Given the description of an element on the screen output the (x, y) to click on. 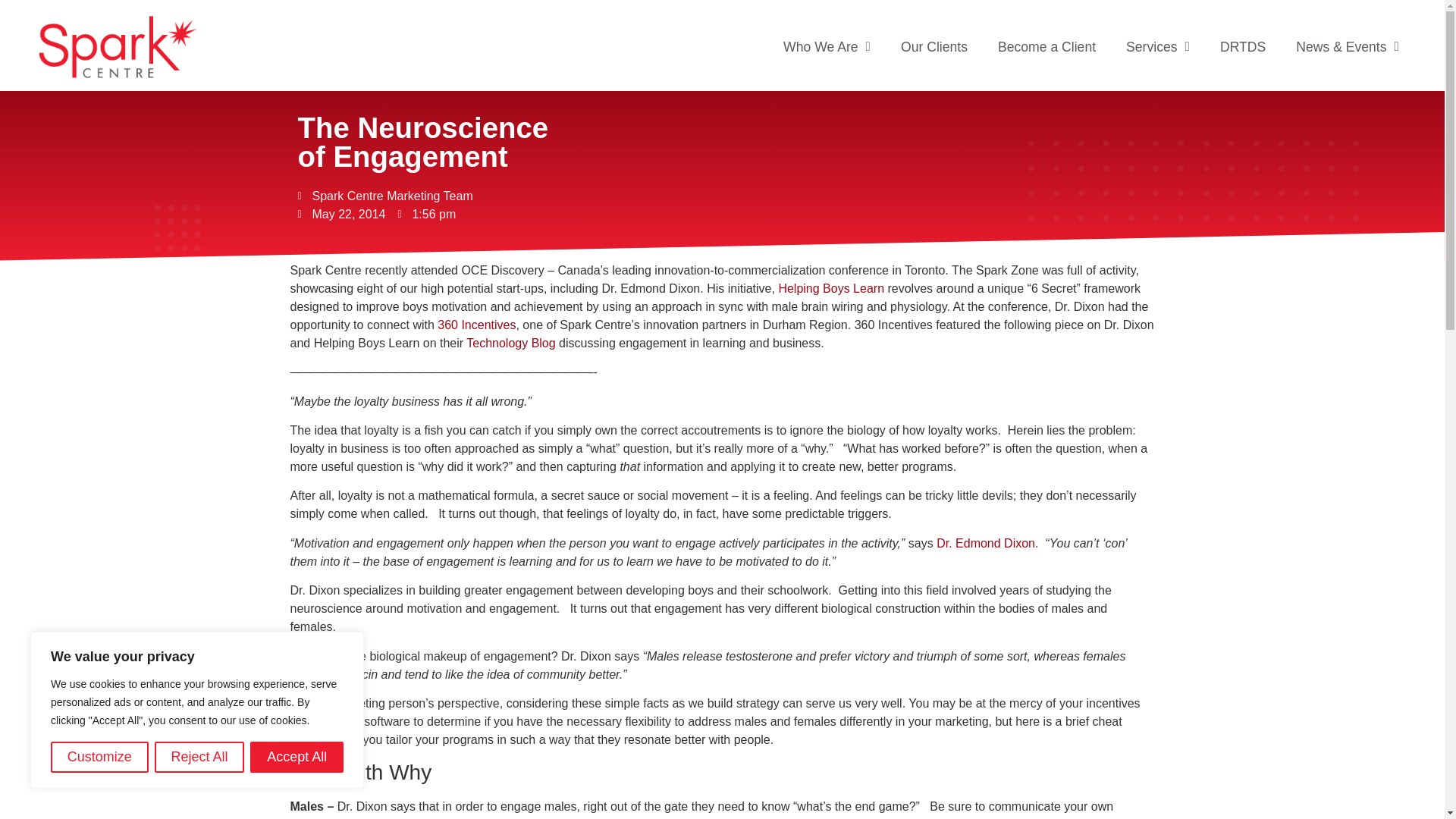
Accept All (296, 757)
Our Clients (933, 46)
Customize (99, 757)
Reject All (199, 757)
Who We Are (826, 46)
Become a Client (1046, 46)
Services (1157, 46)
DRTDS (1243, 46)
